Given the description of an element on the screen output the (x, y) to click on. 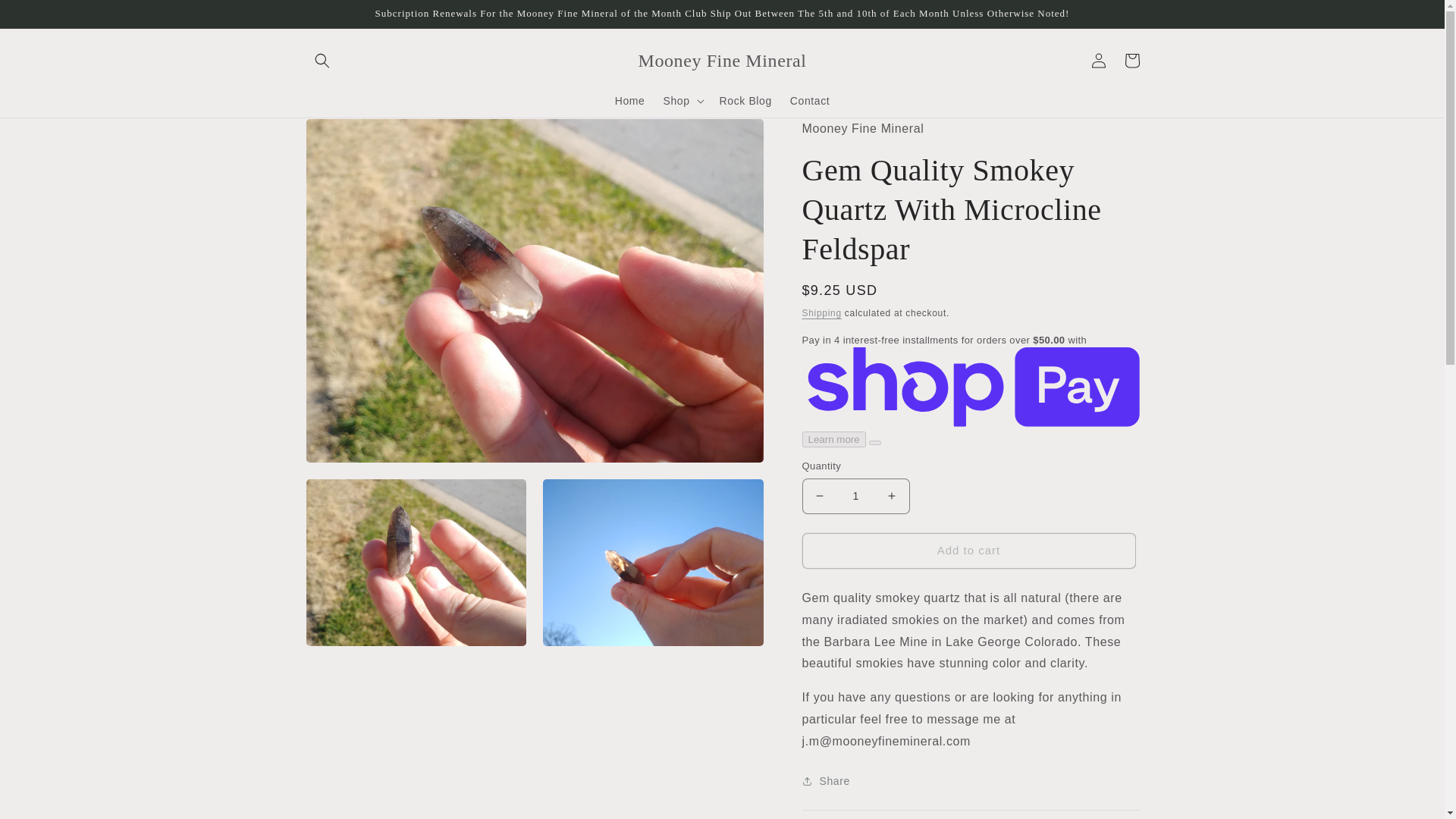
Contact (809, 101)
Cart (1131, 60)
Log in (1098, 60)
Mooney Fine Mineral (721, 60)
Skip to content (45, 17)
Skip to product information (350, 135)
1 (856, 496)
Rock Blog (745, 101)
Home (629, 101)
